Given the description of an element on the screen output the (x, y) to click on. 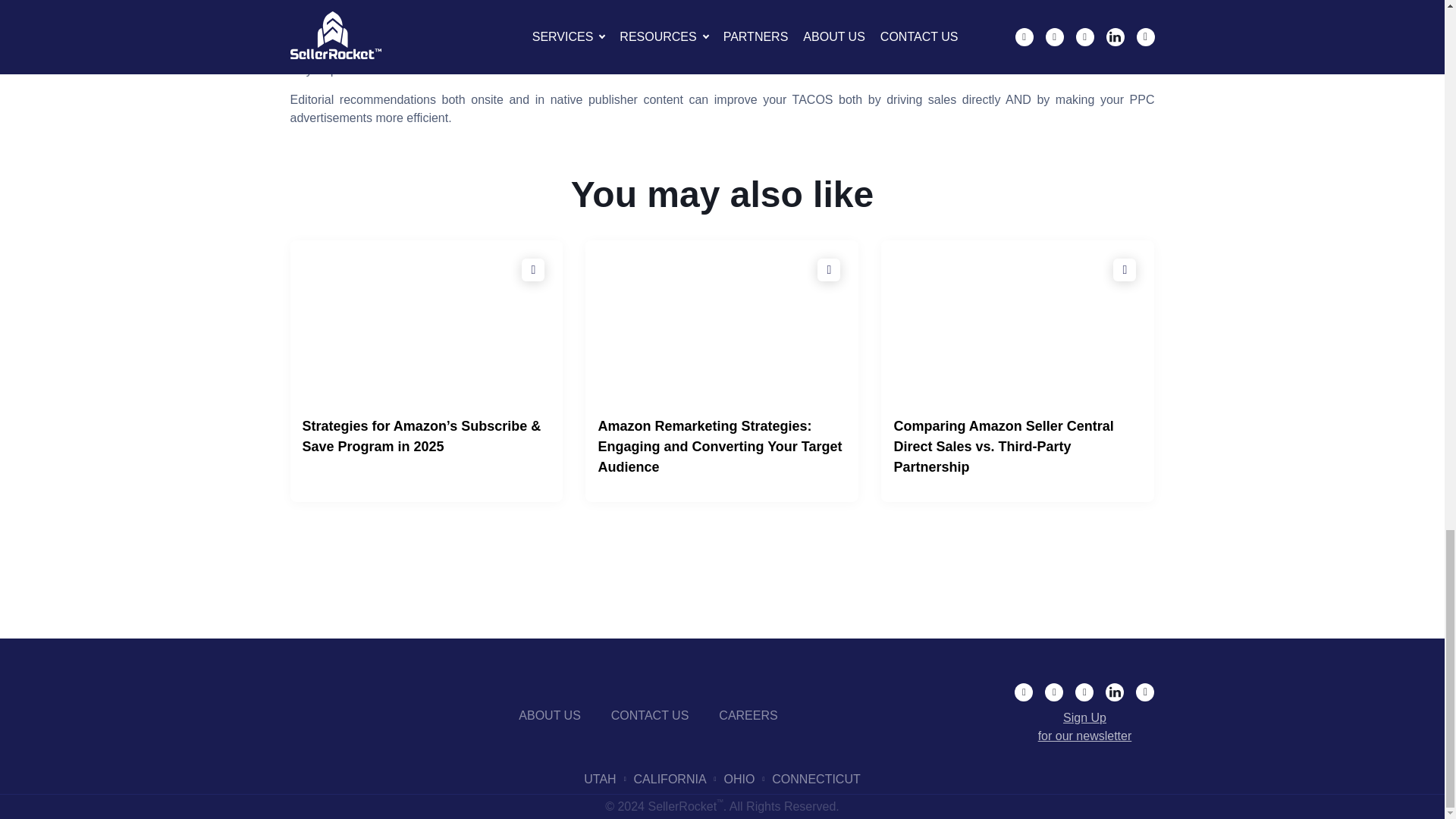
CONTACT US (649, 715)
ABOUT US (549, 715)
